Given the description of an element on the screen output the (x, y) to click on. 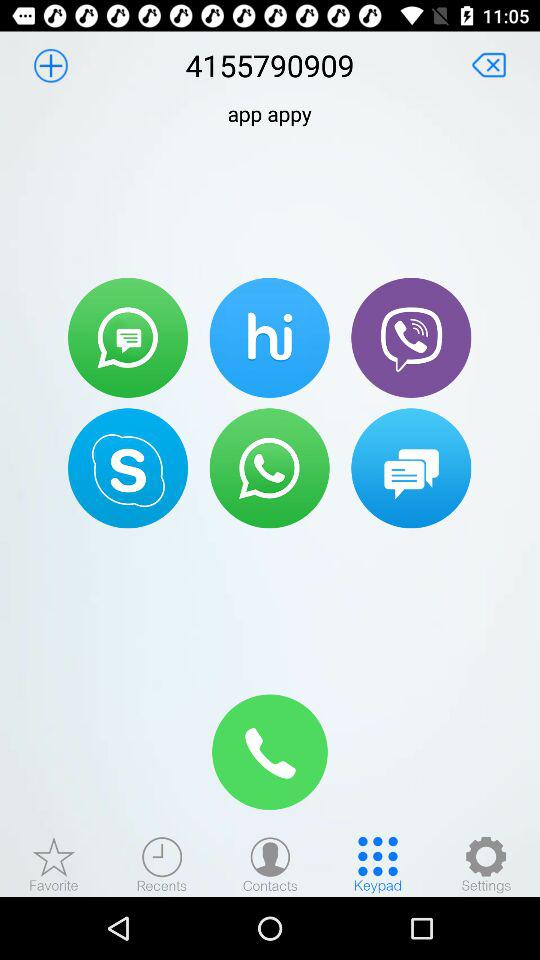
open skype app (127, 468)
